Given the description of an element on the screen output the (x, y) to click on. 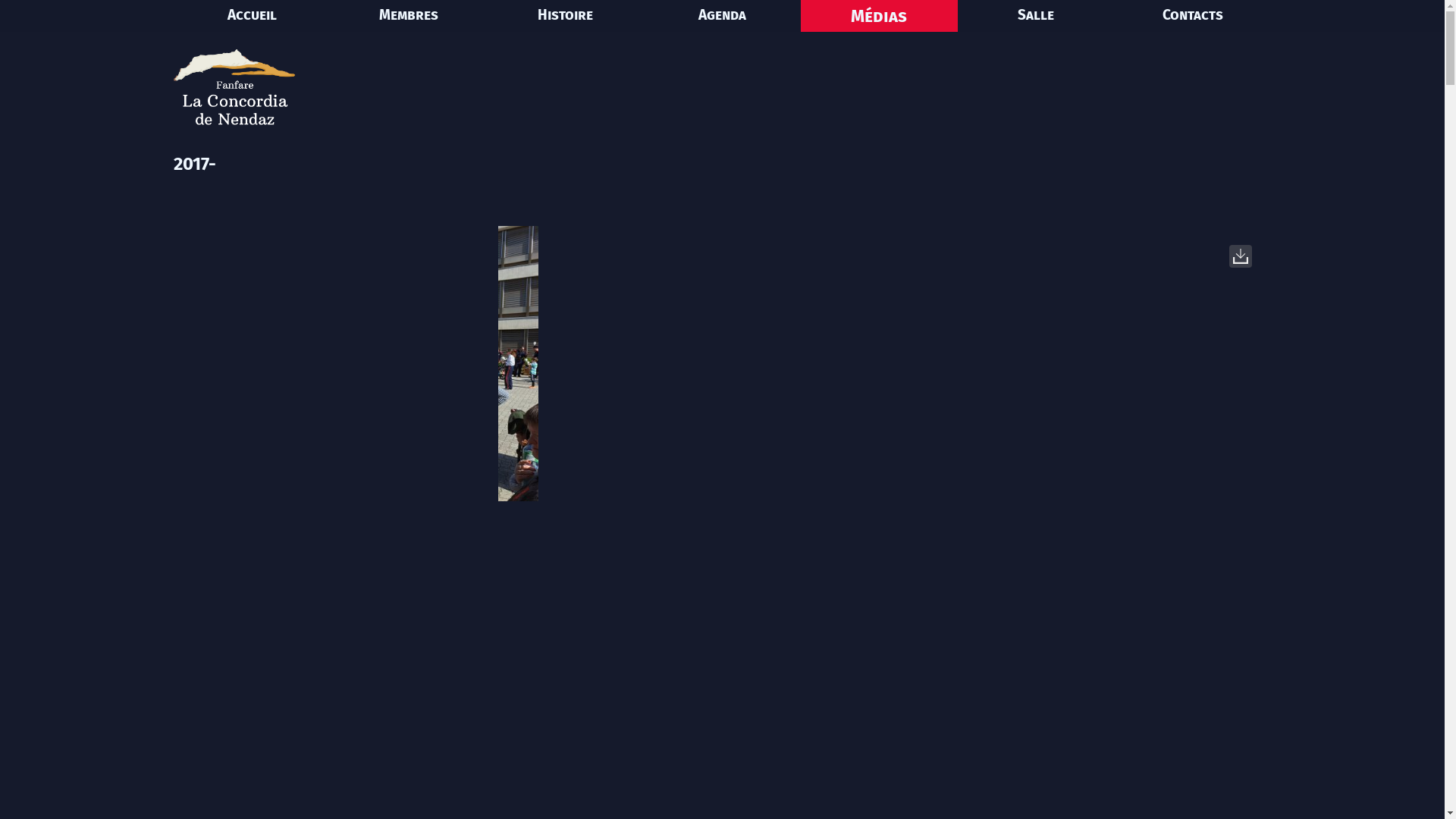
Accueil Element type: text (251, 15)
Histoire Element type: text (564, 15)
Contacts Element type: text (1192, 15)
Salle Element type: text (1035, 15)
Agenda Element type: text (721, 15)
Membres Element type: text (407, 15)
download Element type: hover (1240, 255)
